Given the description of an element on the screen output the (x, y) to click on. 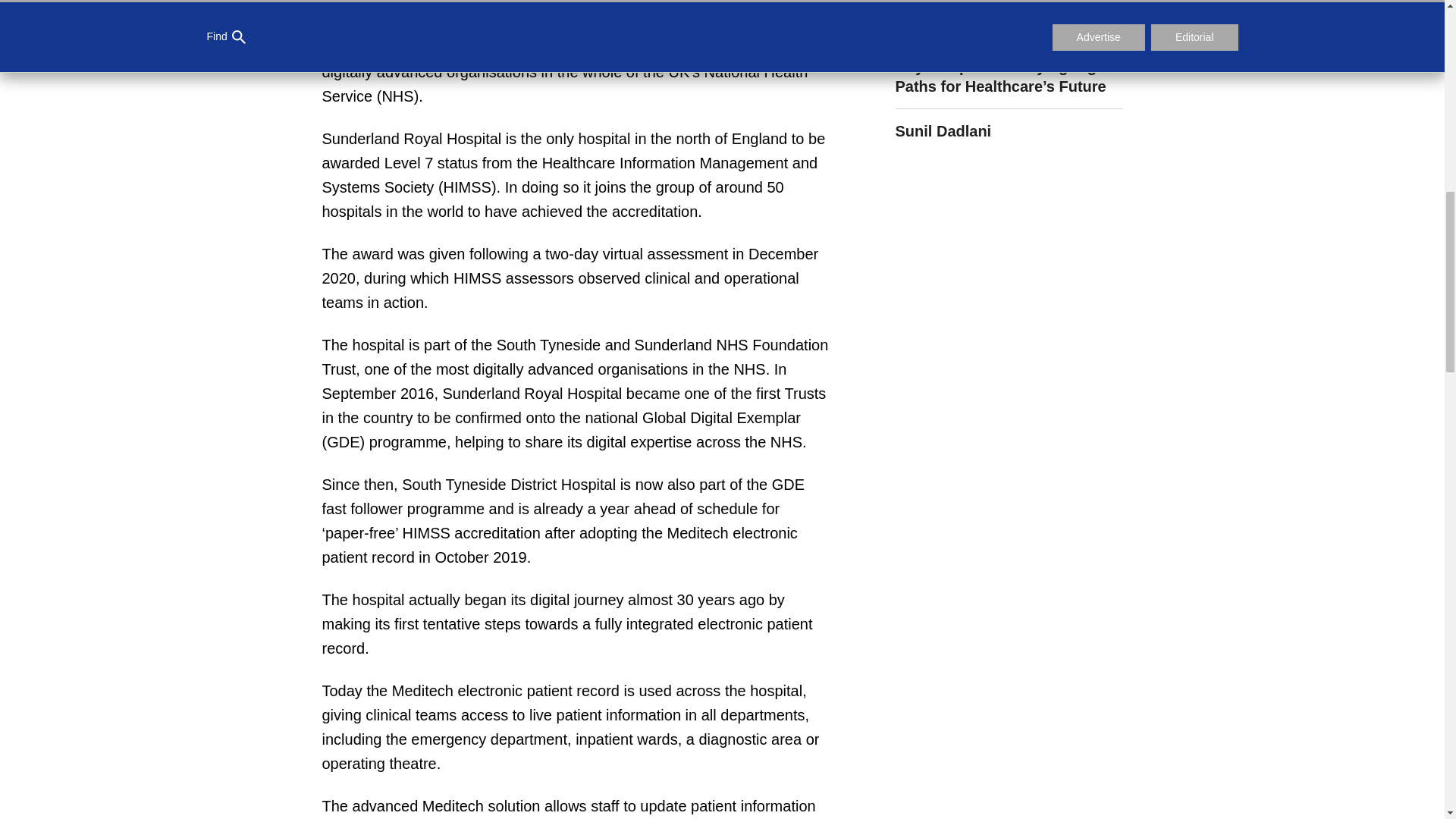
Dell Technologies: Helping to Make Healthcare More Human (1008, 22)
Sunil Dadlani (1008, 124)
